Given the description of an element on the screen output the (x, y) to click on. 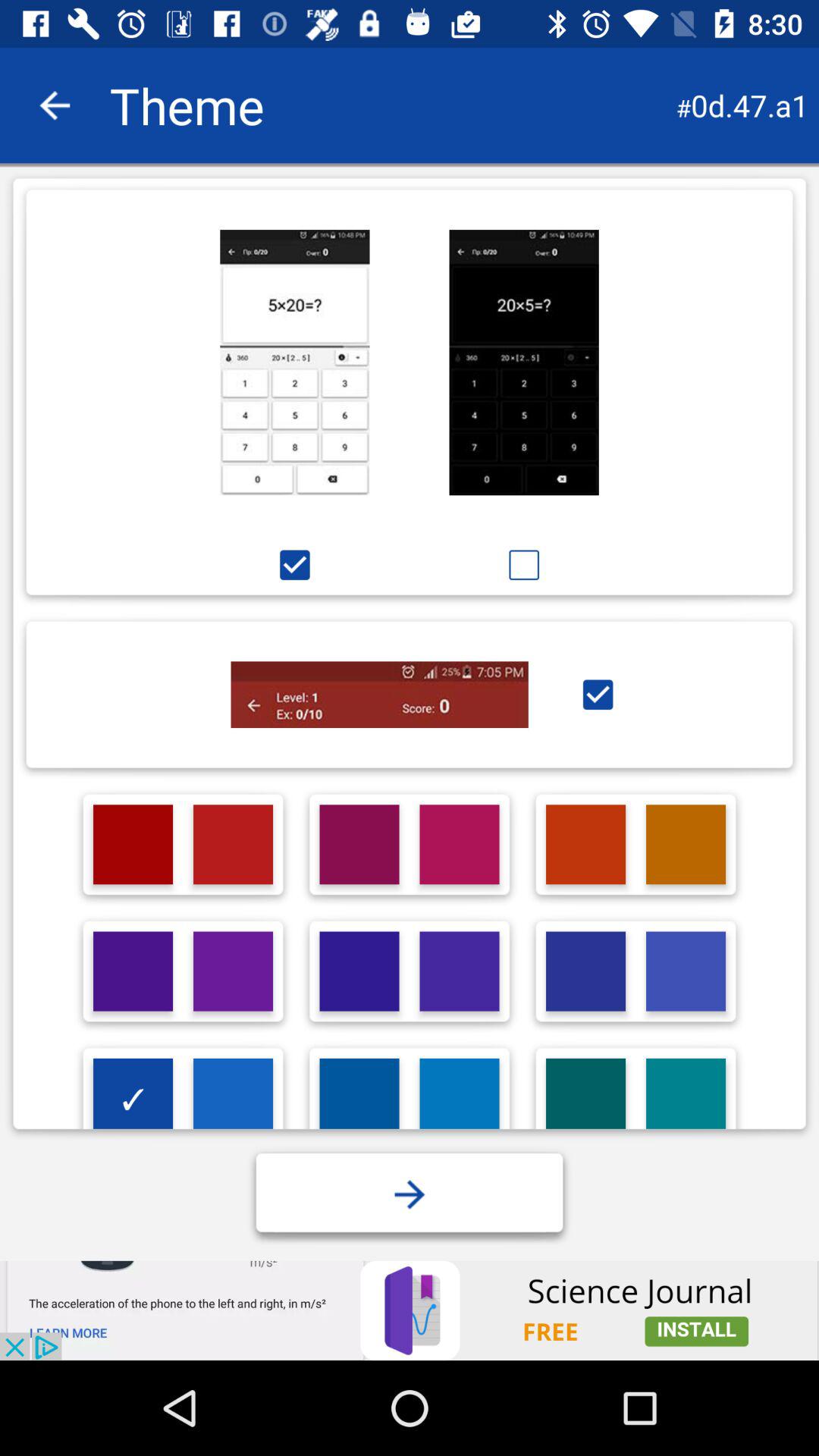
go to mark (523, 564)
